Given the description of an element on the screen output the (x, y) to click on. 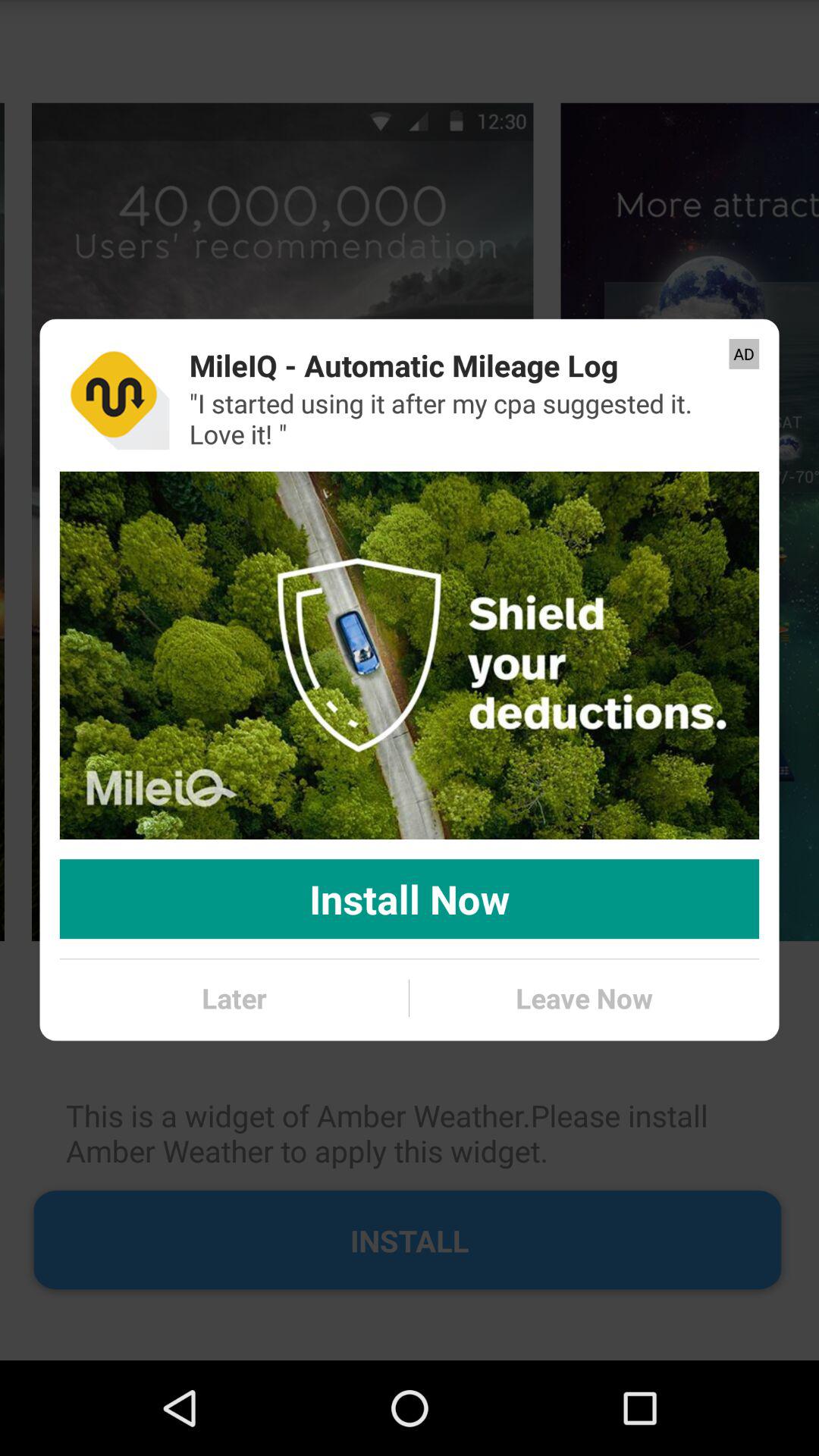
turn on icon above i started using (403, 365)
